Given the description of an element on the screen output the (x, y) to click on. 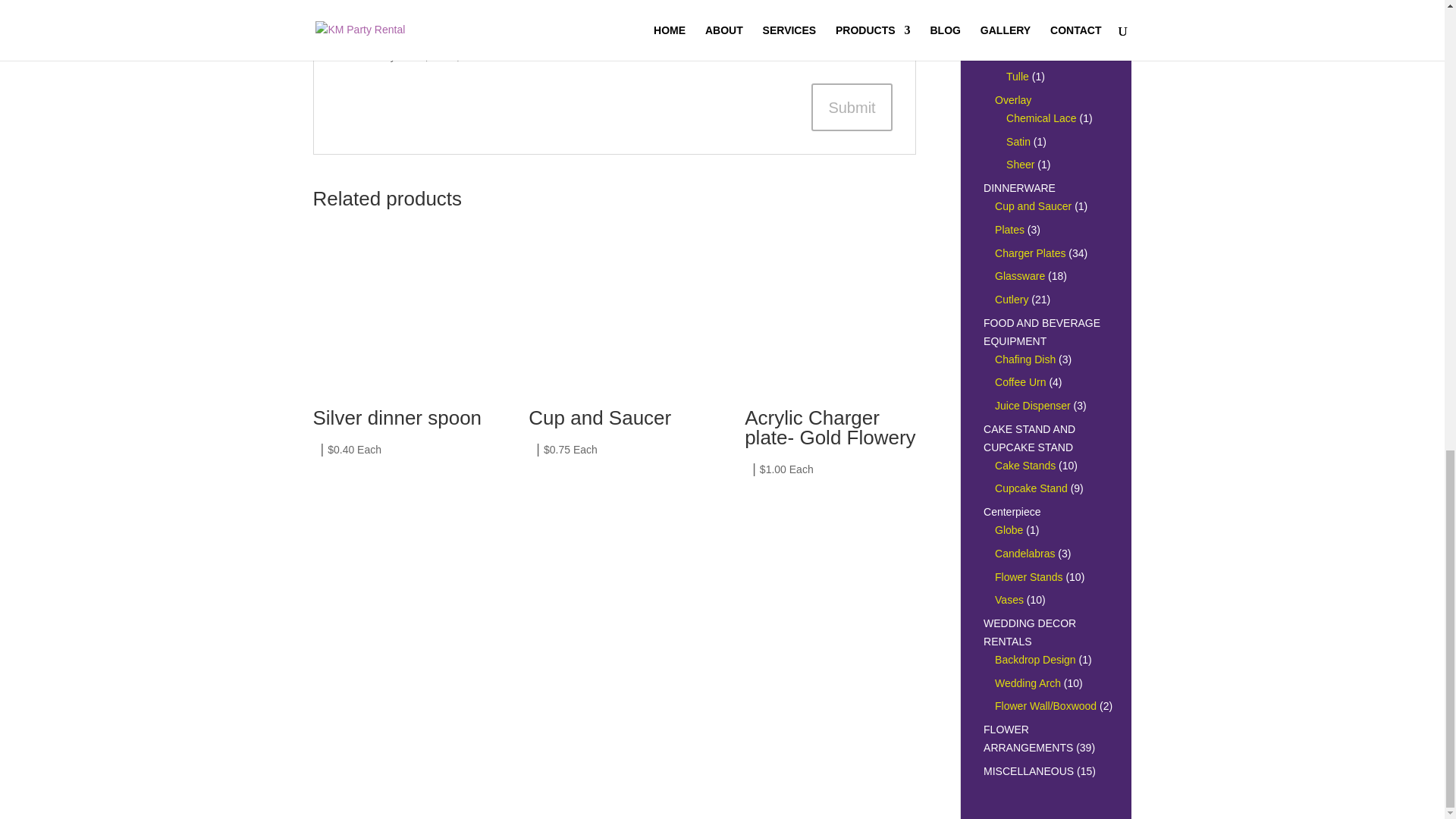
yes (344, 53)
Submit (850, 107)
Submit (850, 107)
